Given the description of an element on the screen output the (x, y) to click on. 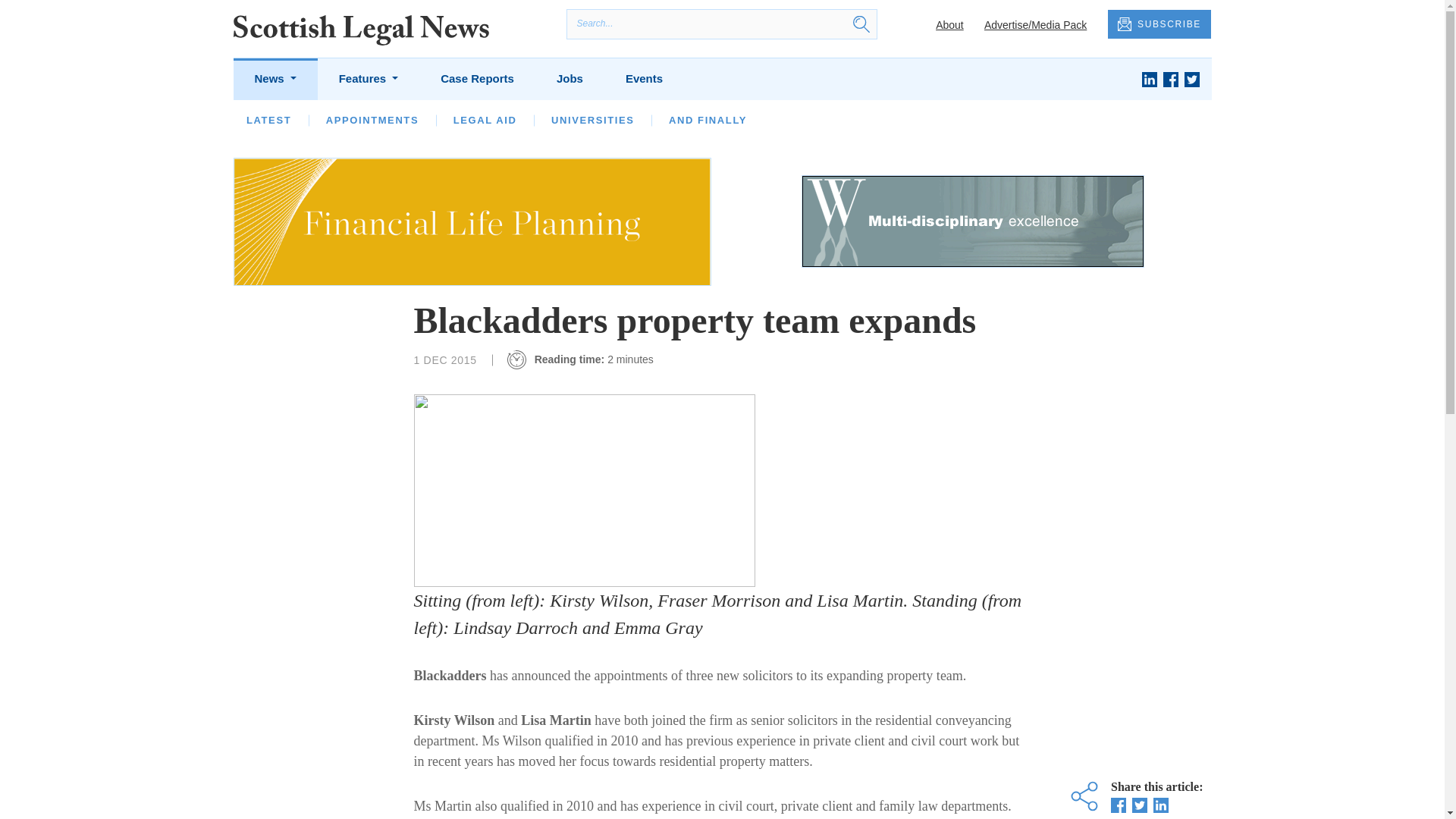
AND FINALLY (707, 120)
OPINION (350, 120)
Case Reports (477, 78)
Features (368, 78)
News (274, 78)
Events (644, 78)
APPOINTMENTS (372, 120)
REVIEWS (782, 120)
UNIVERSITIES (592, 120)
SUBSCRIBE (1158, 24)
